Given the description of an element on the screen output the (x, y) to click on. 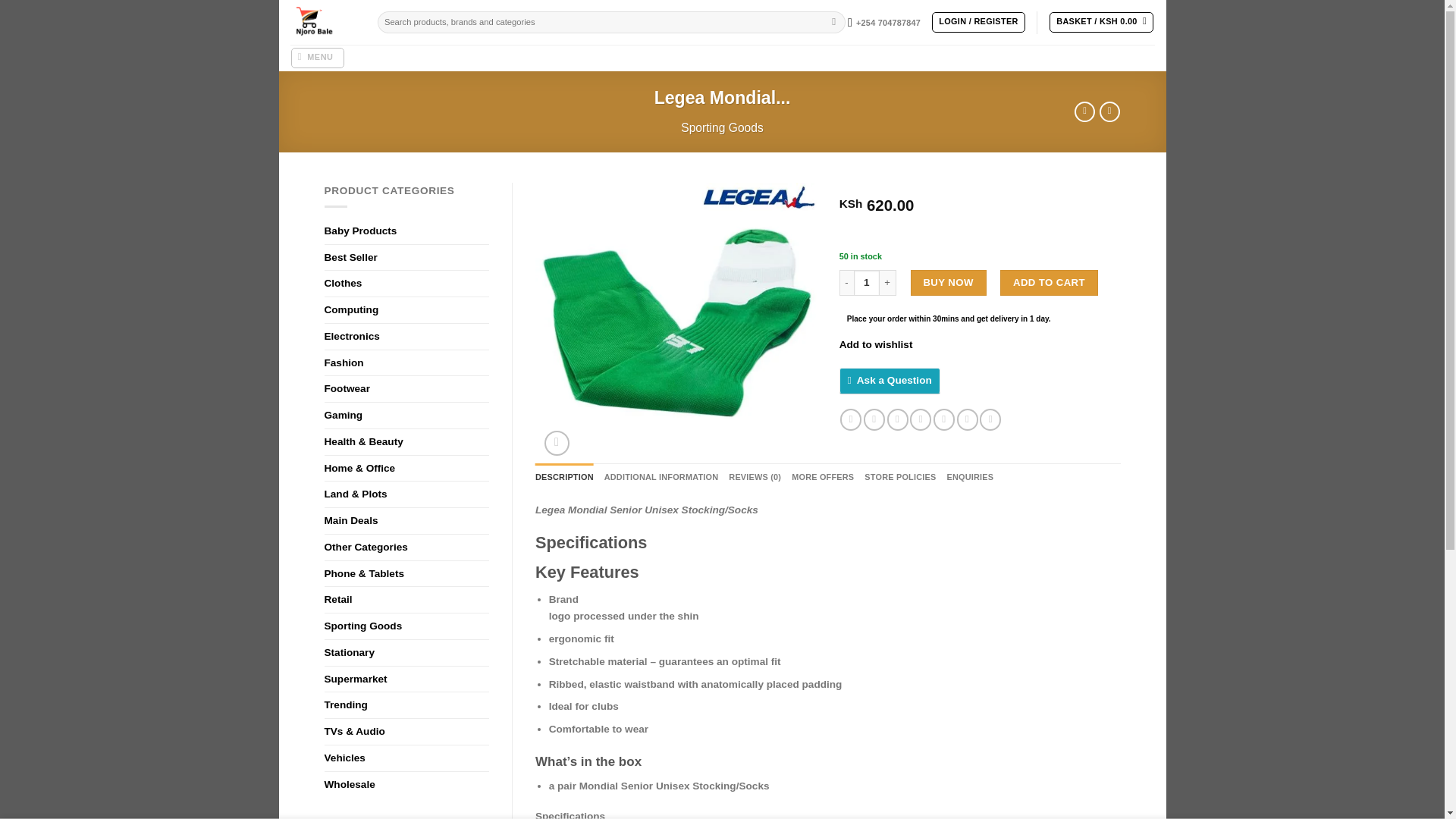
Sporting Goods (721, 127)
1 (866, 282)
Search (834, 22)
Zoom (556, 442)
Baby Products (406, 231)
Share on Twitter (874, 419)
MENU (317, 57)
Njoro Bale (321, 22)
Share on Facebook (850, 419)
